Given the description of an element on the screen output the (x, y) to click on. 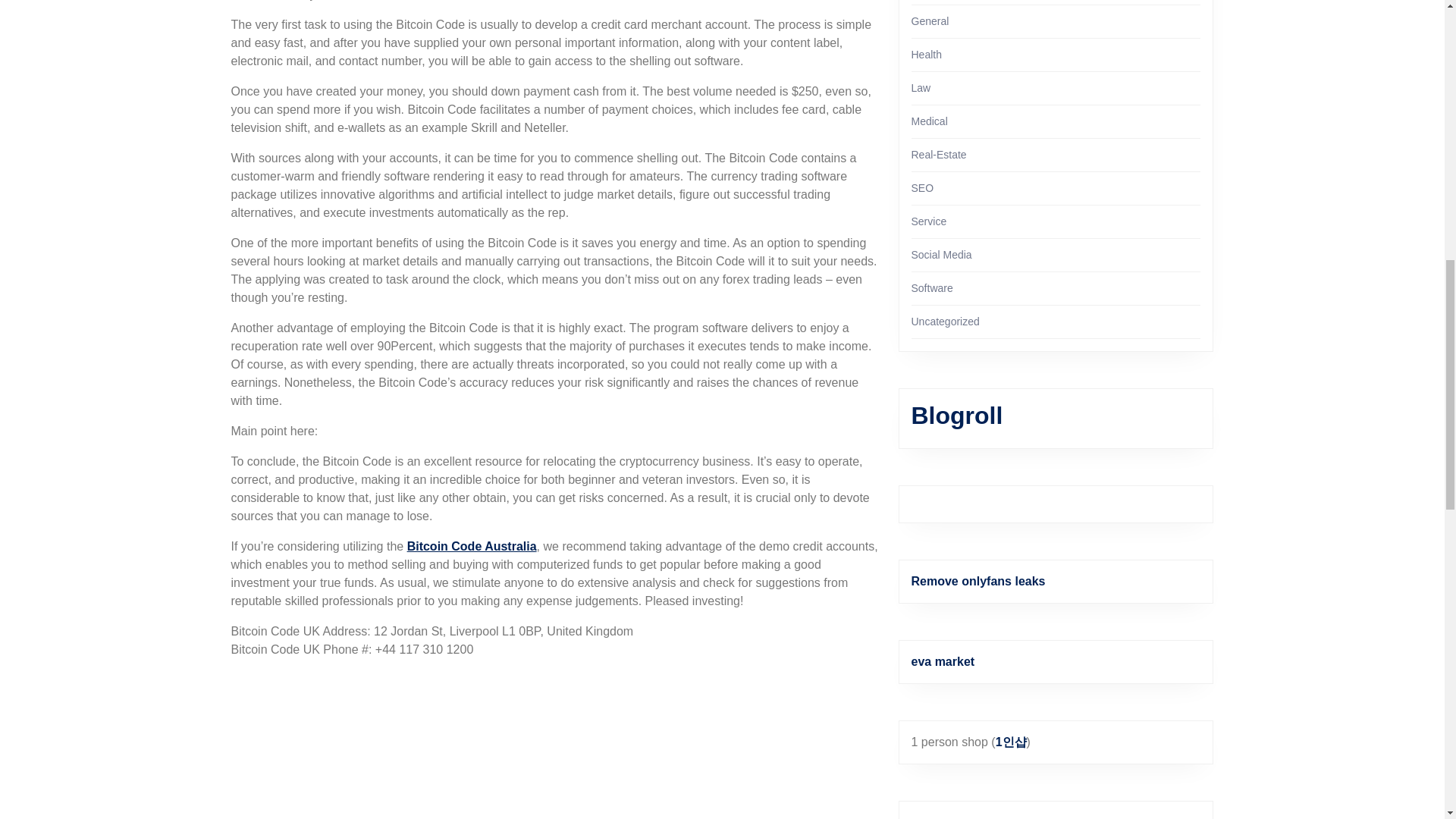
Bitcoin Code Australia (472, 545)
